Given the description of an element on the screen output the (x, y) to click on. 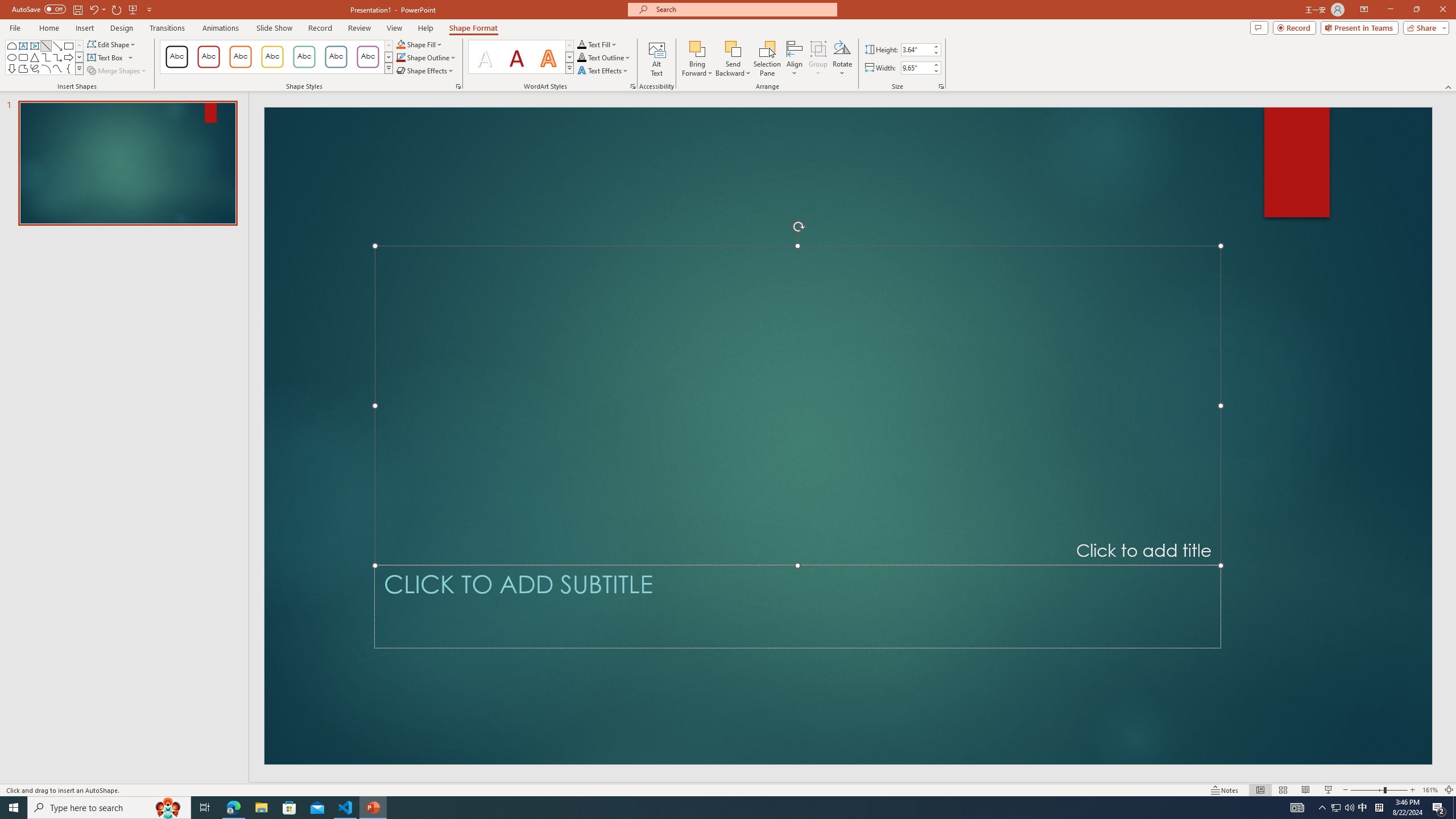
Shapes (78, 68)
Colored Outline - Black, Dark 1 (176, 56)
Selection Pane... (767, 58)
Size and Position... (941, 85)
Fill: White, Text color 1; Shadow (484, 56)
Bring Forward (697, 58)
Rectangle (68, 45)
Rectangle: Top Corners Snipped (11, 45)
Colored Outline - Gold, Accent 3 (272, 56)
